Given the description of an element on the screen output the (x, y) to click on. 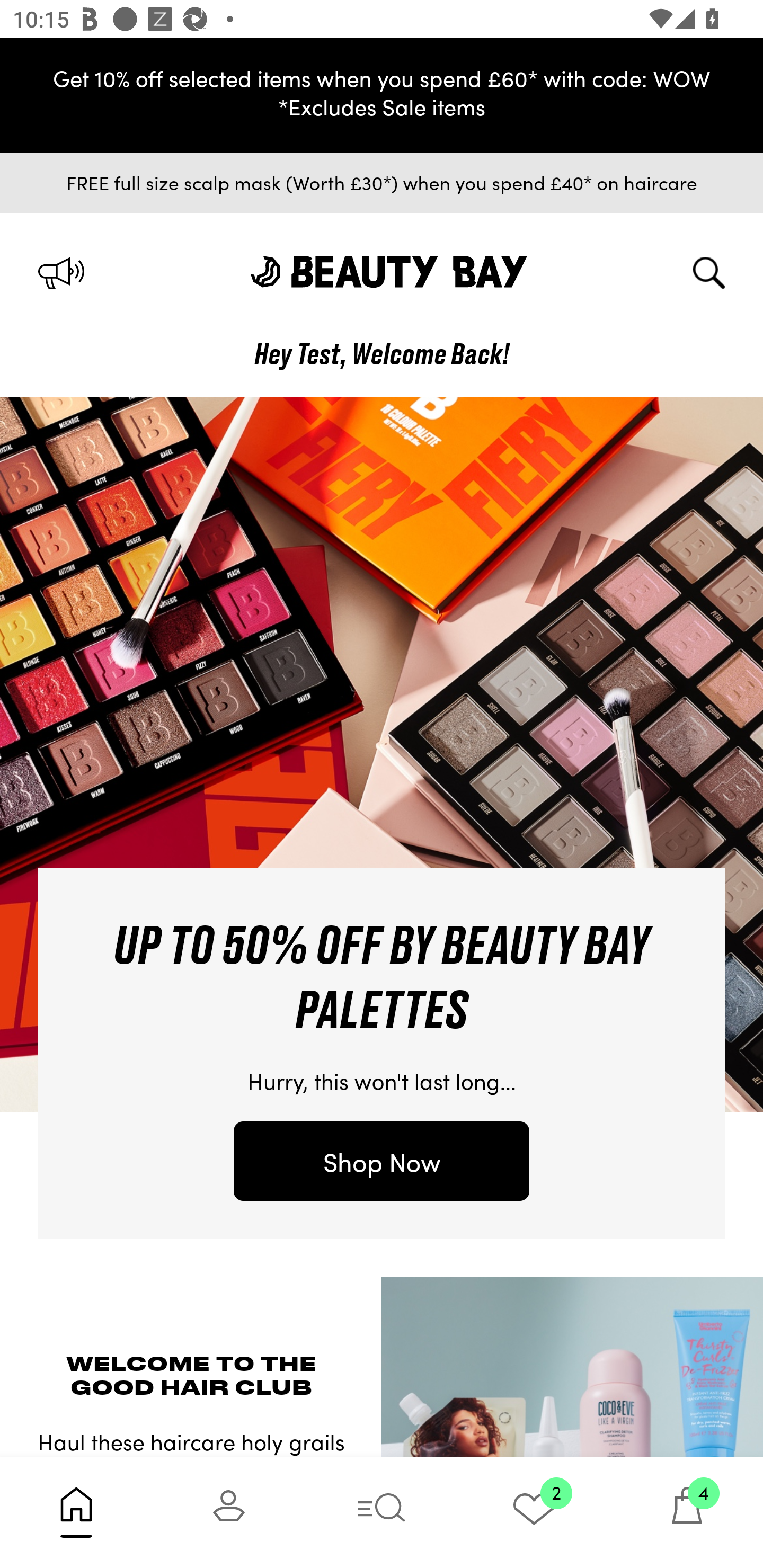
2 (533, 1512)
4 (686, 1512)
